Given the description of an element on the screen output the (x, y) to click on. 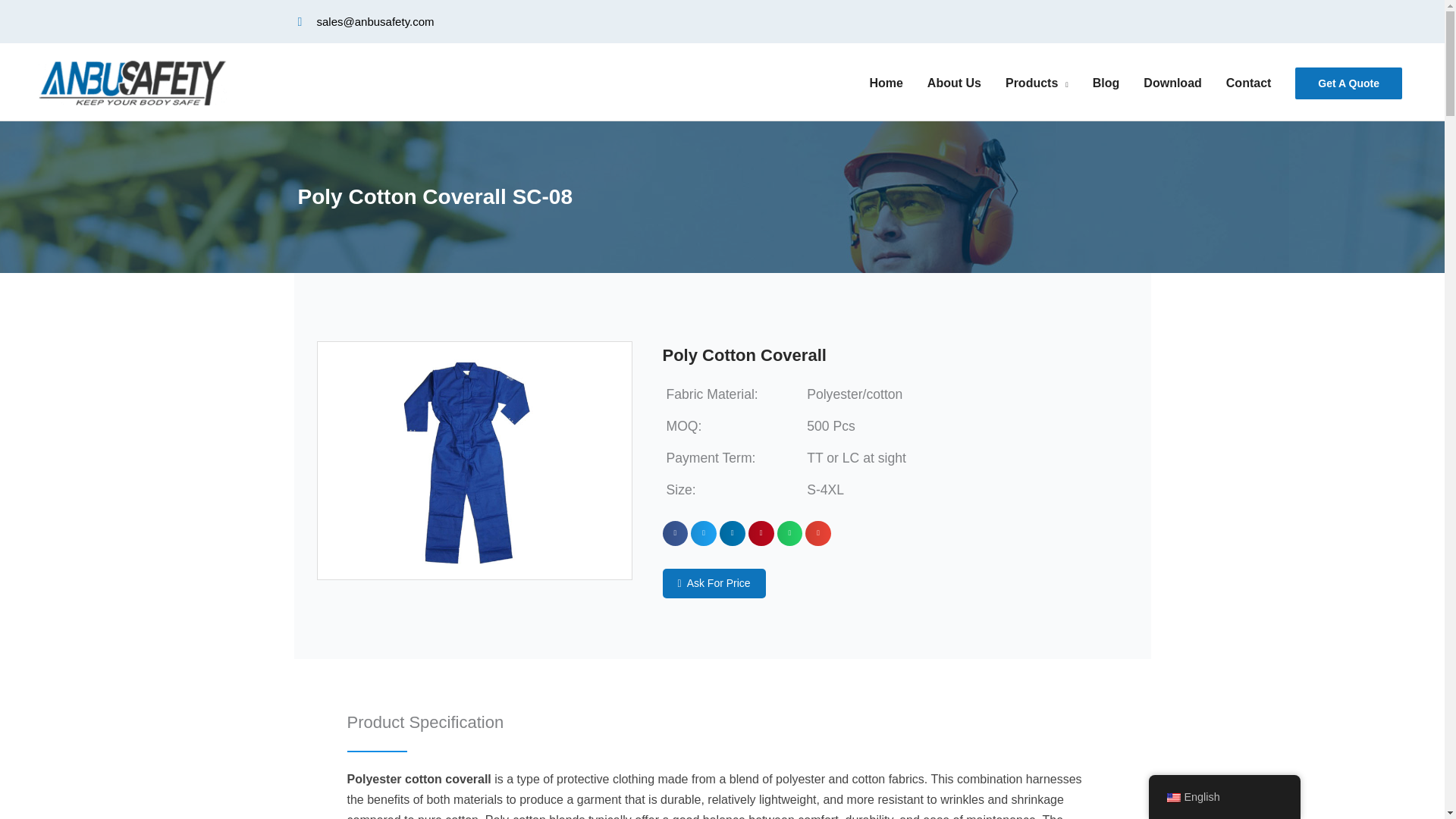
English (1172, 797)
Products (1036, 82)
About Us (953, 82)
